Given the description of an element on the screen output the (x, y) to click on. 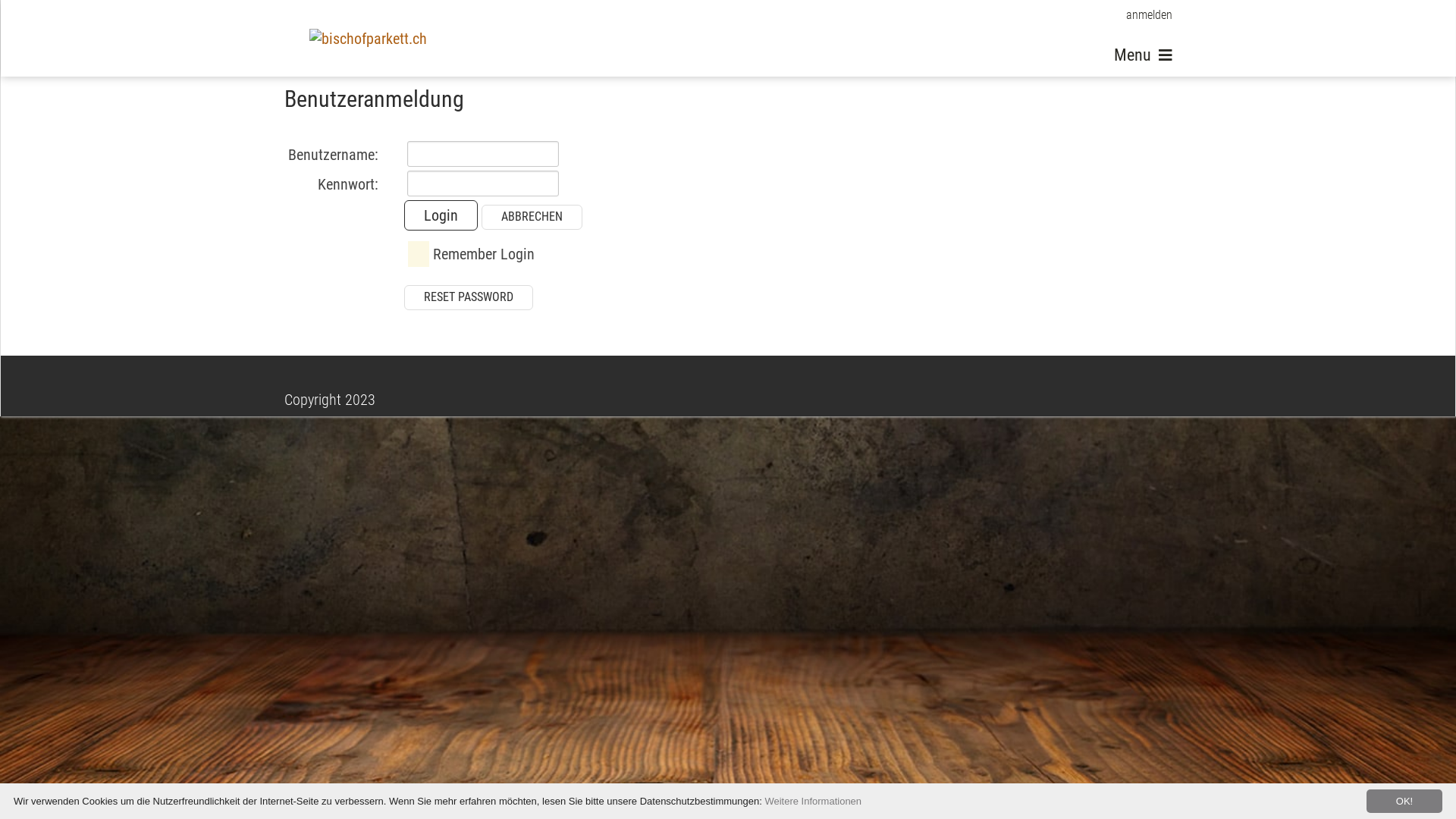
Login Element type: text (440, 215)
ABBRECHEN Element type: text (531, 216)
bischofparkett.ch Element type: hover (367, 37)
anmelden Element type: text (1138, 15)
Weitere Informationen Element type: text (812, 800)
RESET PASSWORD Element type: text (468, 297)
